Given the description of an element on the screen output the (x, y) to click on. 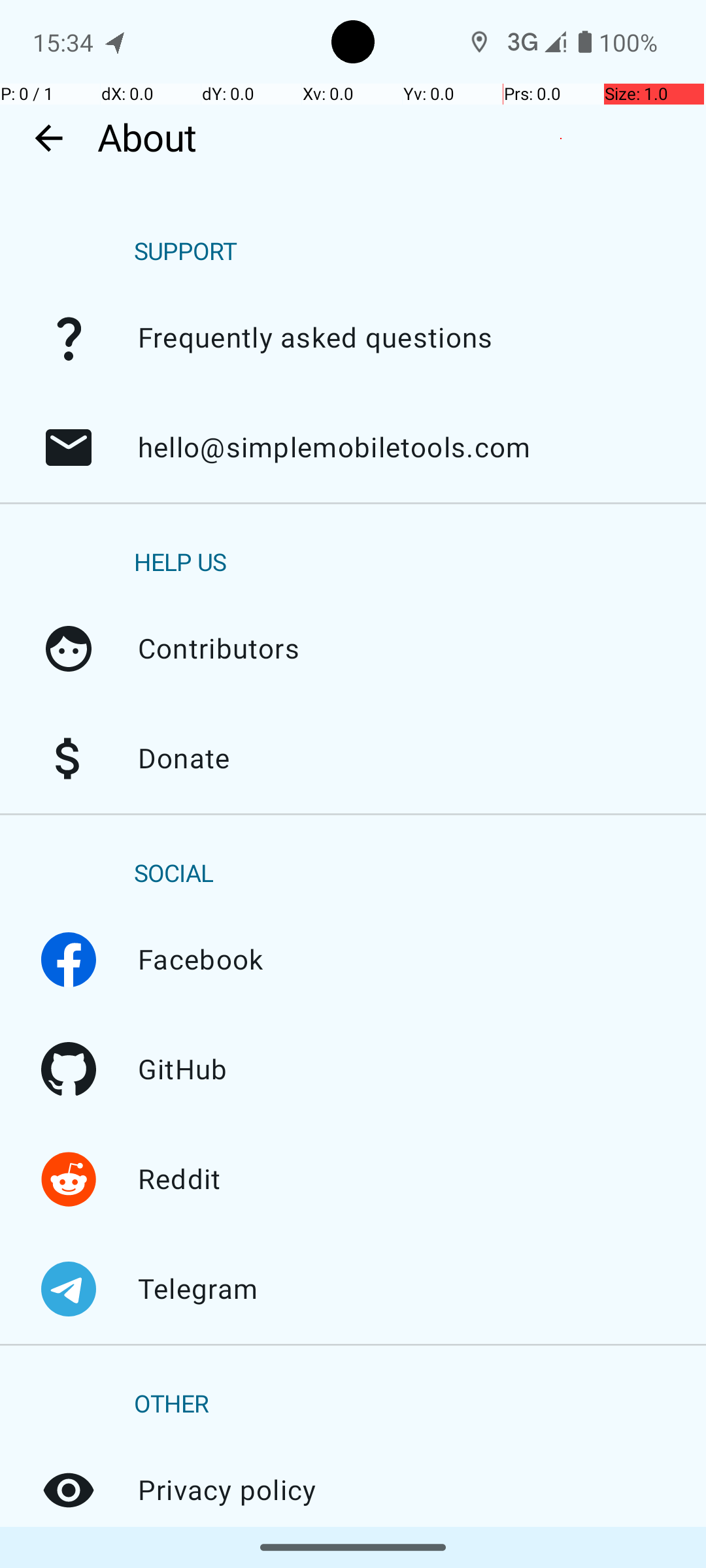
SUPPORT Element type: android.widget.TextView (185, 251)
HELP US Element type: android.widget.TextView (180, 562)
SOCIAL Element type: android.widget.TextView (173, 873)
OTHER Element type: android.widget.TextView (171, 1404)
Frequently asked questions Element type: android.view.View (68, 337)
hello@simplemobiletools.com Element type: android.view.View (68, 447)
Donate Element type: android.view.View (68, 758)
GitHub Element type: android.view.View (68, 1069)
Reddit Element type: android.view.View (68, 1178)
Telegram Element type: android.view.View (68, 1288)
